Given the description of an element on the screen output the (x, y) to click on. 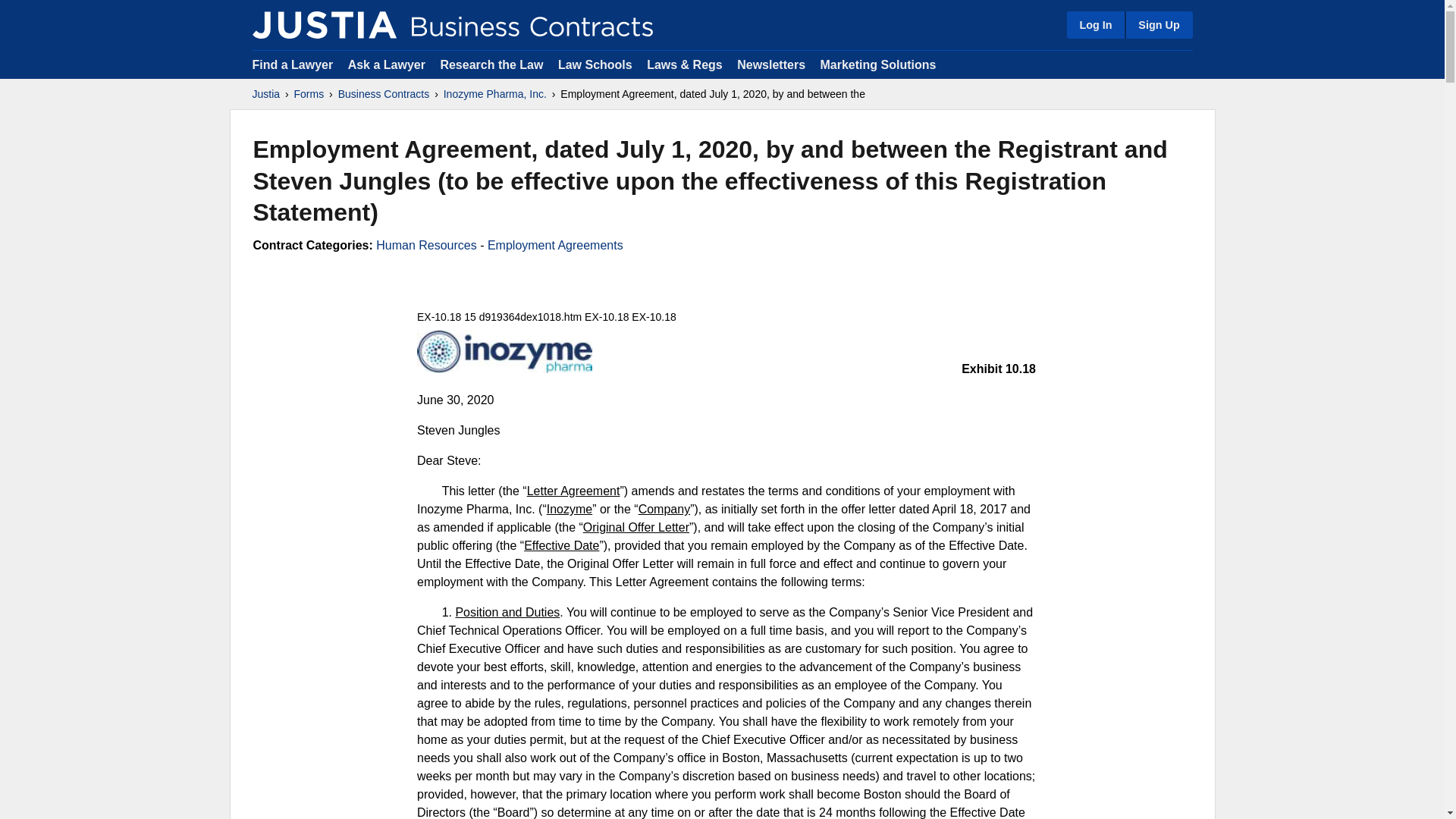
Forms (309, 93)
Law Schools (594, 64)
Research the Law (491, 64)
Inozyme Pharma, Inc. (495, 93)
Employment Agreements (555, 245)
Human Resources (426, 245)
Justia (265, 93)
Justia (323, 24)
Newsletters (770, 64)
Business Contracts (383, 93)
Sign Up (1158, 24)
Find a Lawyer (292, 64)
Marketing Solutions (877, 64)
Ask a Lawyer (388, 64)
Log In (1094, 24)
